Given the description of an element on the screen output the (x, y) to click on. 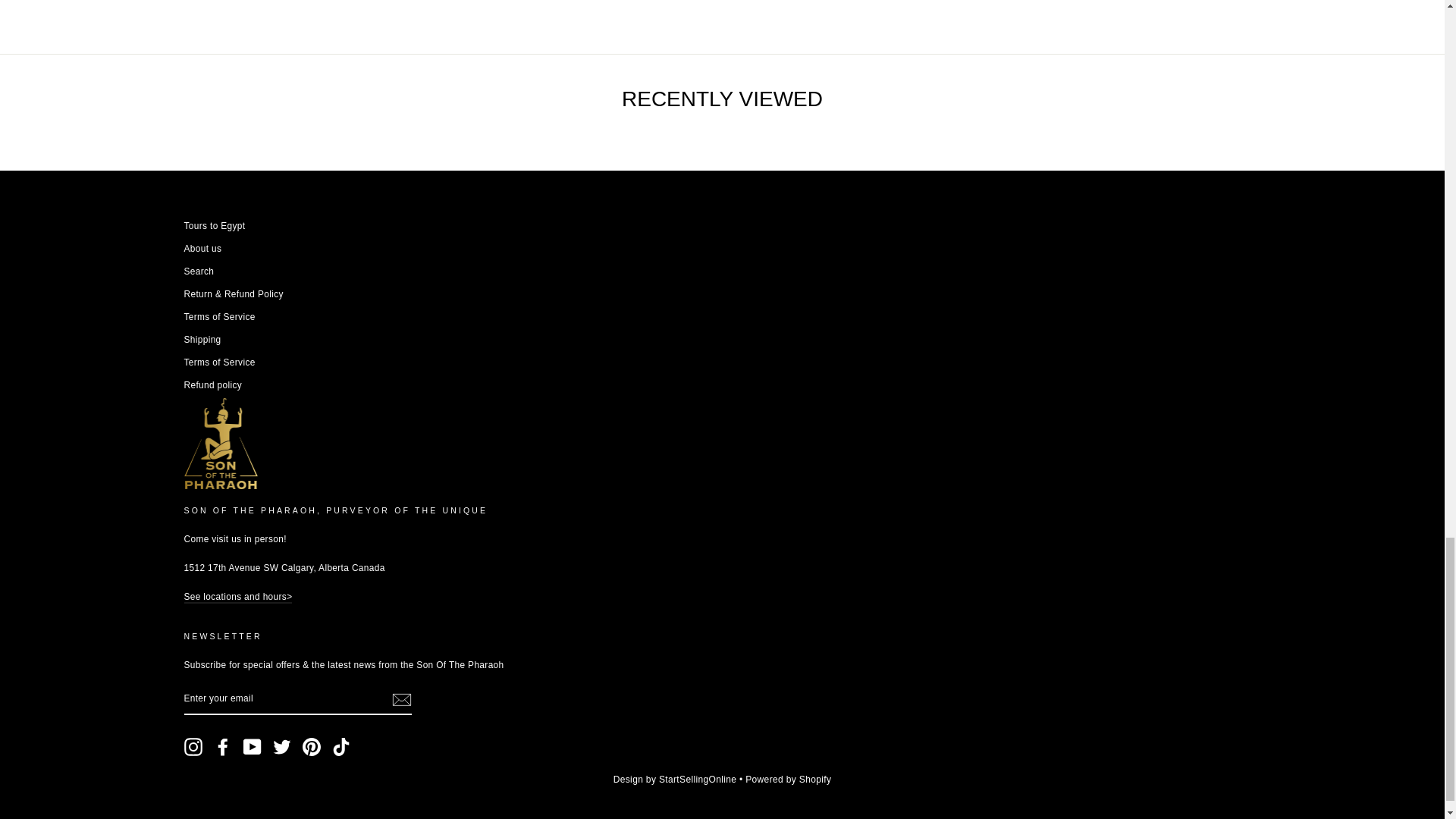
Son Of The Pharaoh on Twitter (282, 746)
Son Of The Pharaoh on Instagram (192, 746)
Son Of The Pharaoh on YouTube (251, 746)
Son Of The Pharaoh on Facebook (222, 746)
